Given the description of an element on the screen output the (x, y) to click on. 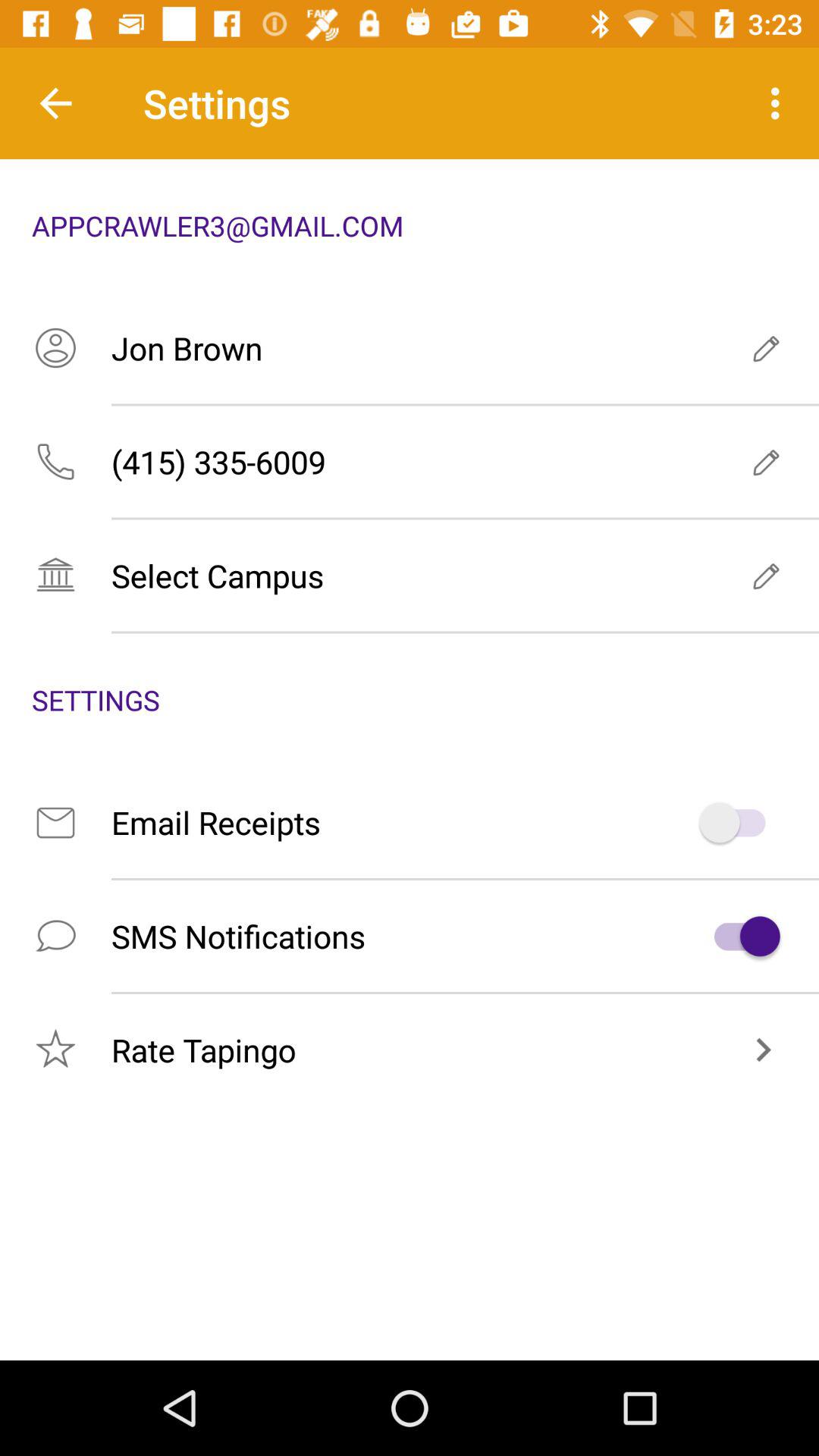
flip until rate tapingo (409, 1049)
